Given the description of an element on the screen output the (x, y) to click on. 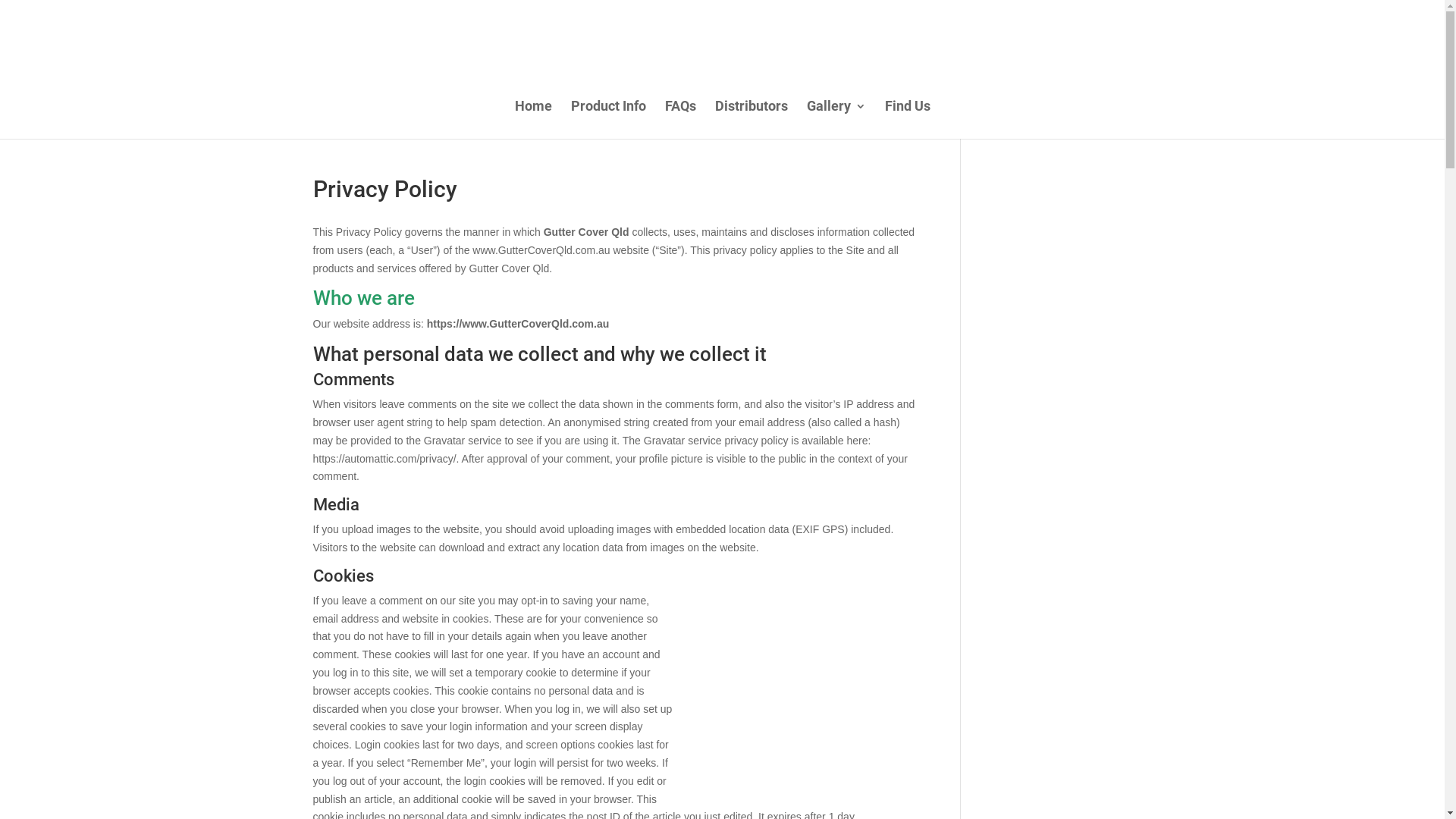
Find Us Element type: text (906, 119)
Gallery Element type: text (836, 119)
enquiries@guttercoverqld.com.au Element type: text (496, 13)
Home Element type: text (532, 119)
Distributors Element type: text (750, 119)
Product Info Element type: text (607, 119)
FAQs Element type: text (679, 119)
